Given the description of an element on the screen output the (x, y) to click on. 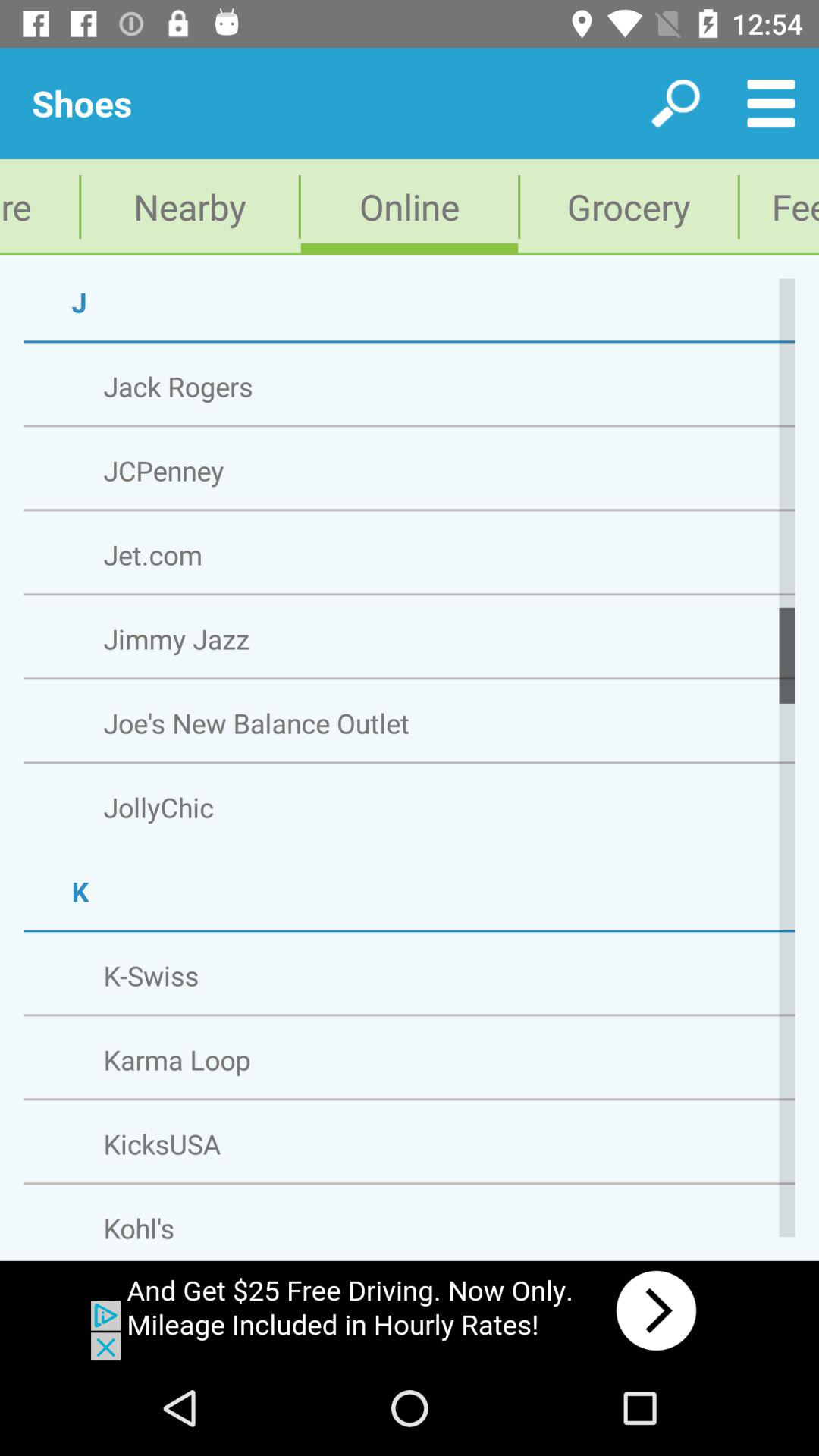
adverts (409, 1310)
